Given the description of an element on the screen output the (x, y) to click on. 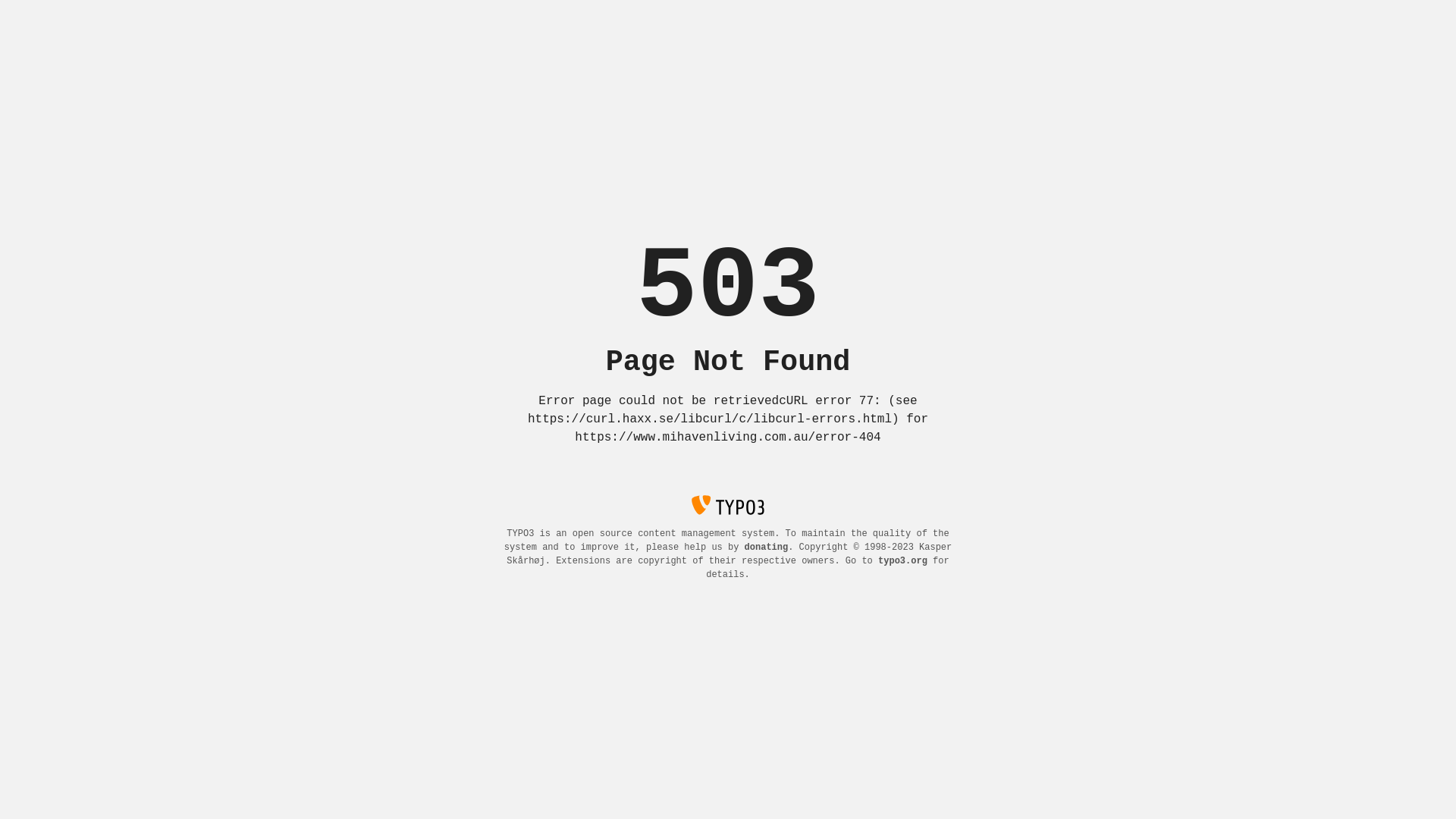
typo3.org Element type: text (902, 560)
donating Element type: text (766, 547)
